Given the description of an element on the screen output the (x, y) to click on. 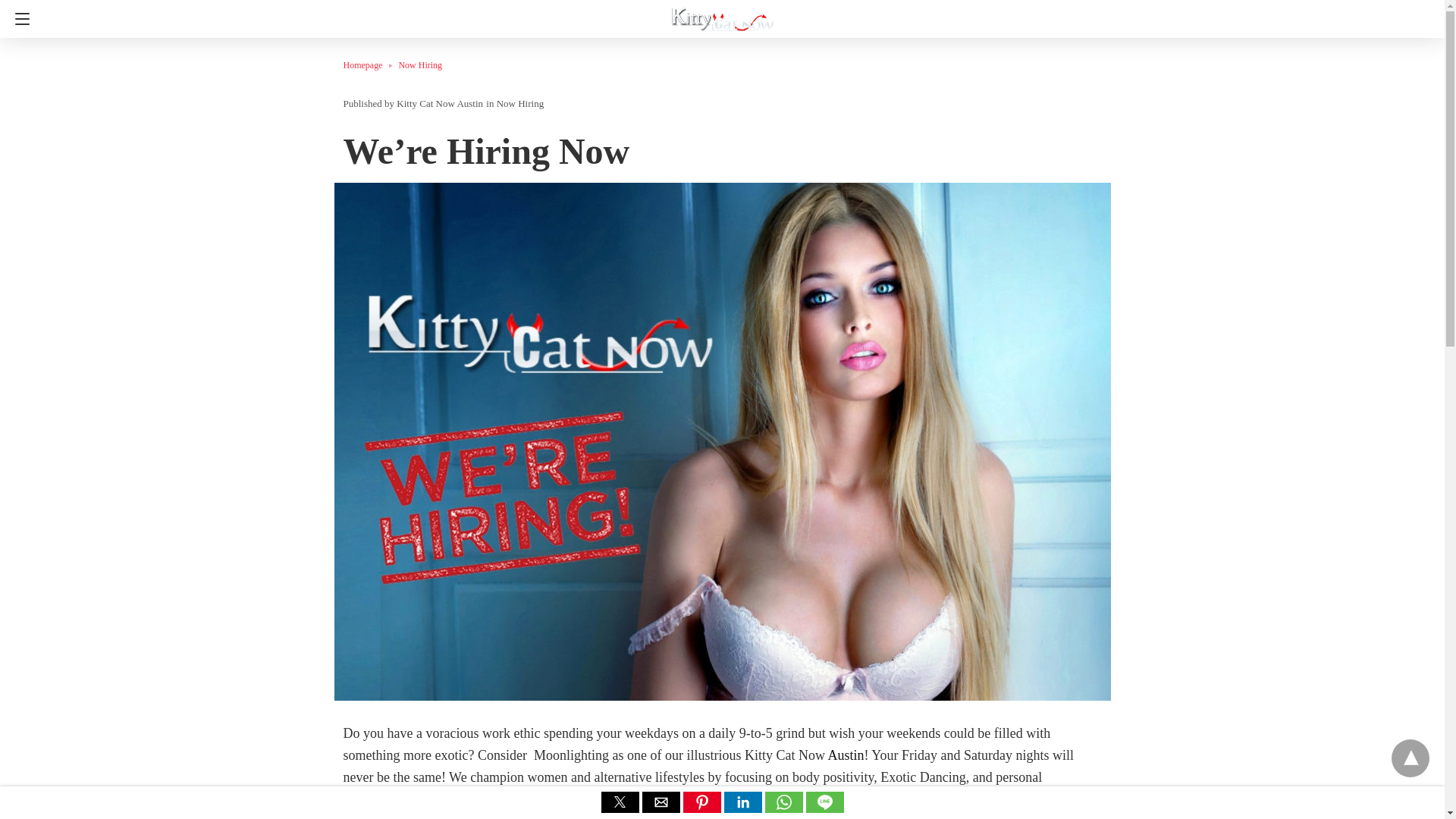
Now Hiring (419, 64)
Kitty Cat Now Austin (722, 13)
Kitty Cat Now Austin (439, 102)
Homepage (369, 64)
Homepage (369, 64)
Now Hiring (519, 102)
Now Hiring (419, 64)
Kitty Cat Now Austin (439, 102)
whatsapp share (784, 808)
line share (824, 808)
